Given the description of an element on the screen output the (x, y) to click on. 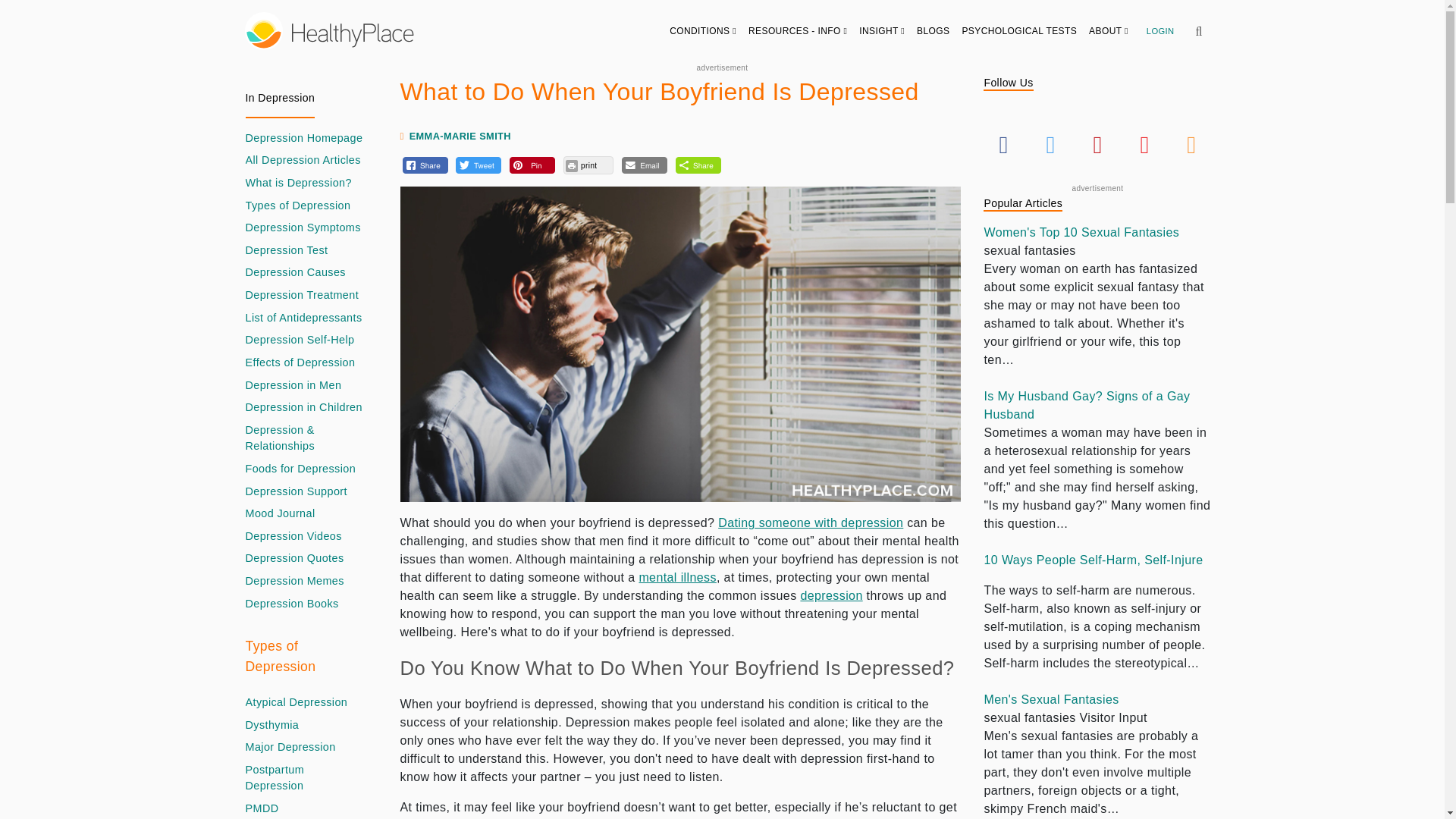
Depression Support: Why You Need It, Where to Find It (296, 492)
Take a Depression Test (287, 250)
Watch Depression Videos on All Aspects of Depression (294, 536)
Depression in Men: Understanding Male Depression (294, 385)
List of Best Foods for Fighting Depression (301, 469)
What Causes Depression? (296, 272)
How Depression Affects Relationships: The Good and the Bad (305, 438)
